Given the description of an element on the screen output the (x, y) to click on. 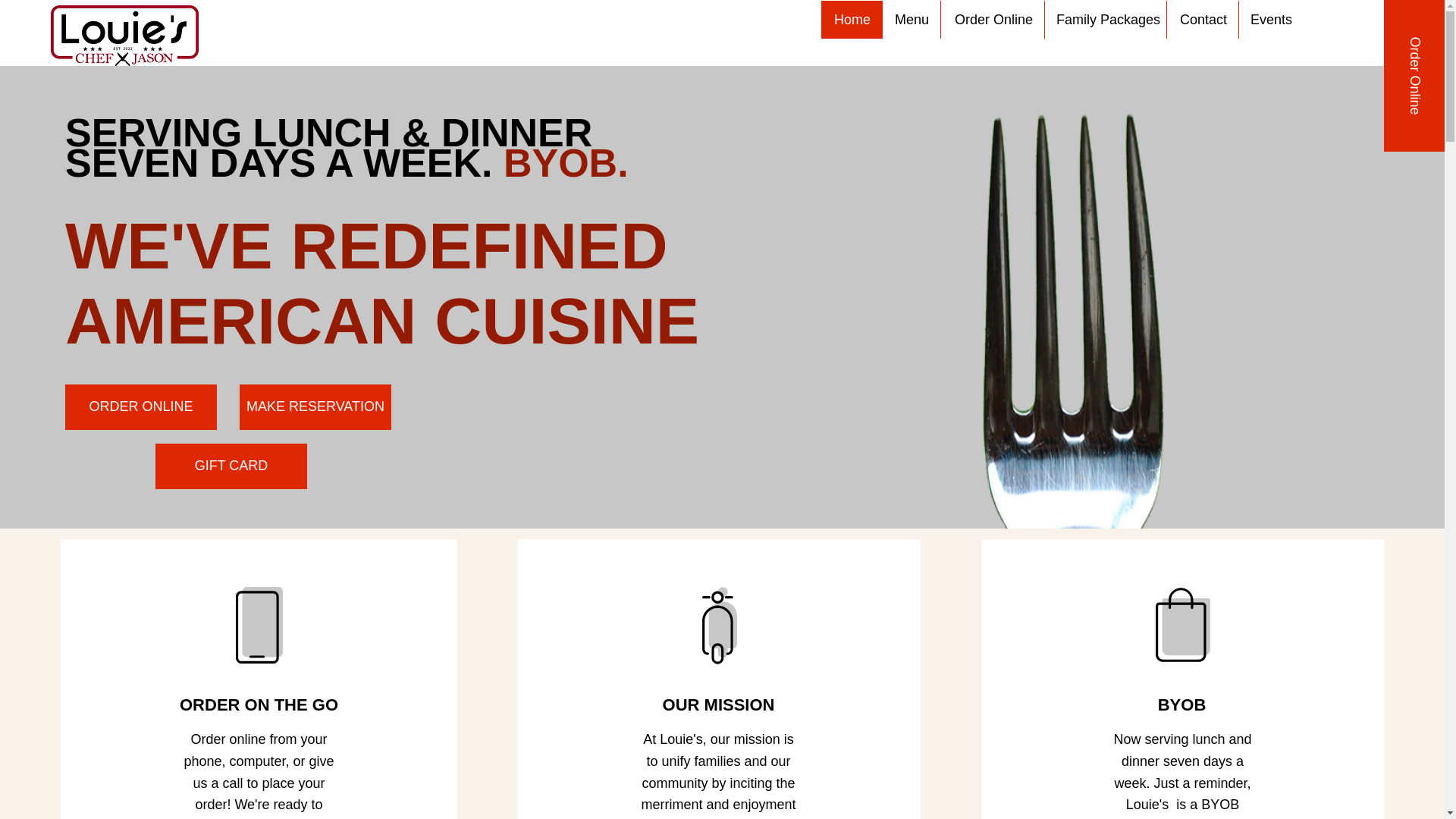
Home (851, 19)
MAKE RESERVATION (315, 406)
GIFT CARD (231, 465)
Contact (1202, 19)
ORDER ONLINE (140, 406)
Events (1270, 19)
Family Packages (1104, 19)
Order Online (991, 19)
Menu (911, 19)
